Given the description of an element on the screen output the (x, y) to click on. 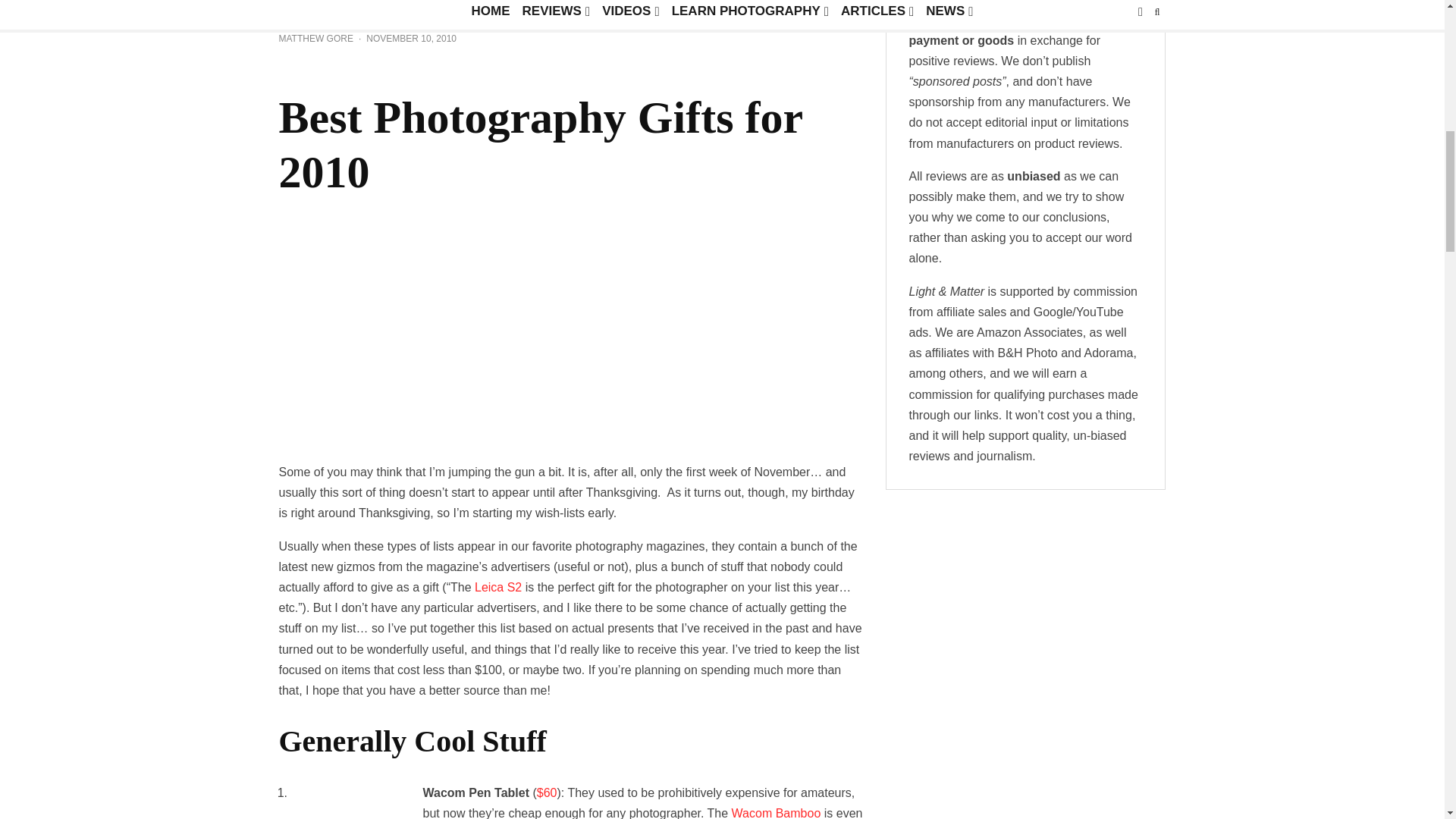
wacombamboo (347, 804)
Posts by Matthew Gore (316, 38)
